Given the description of an element on the screen output the (x, y) to click on. 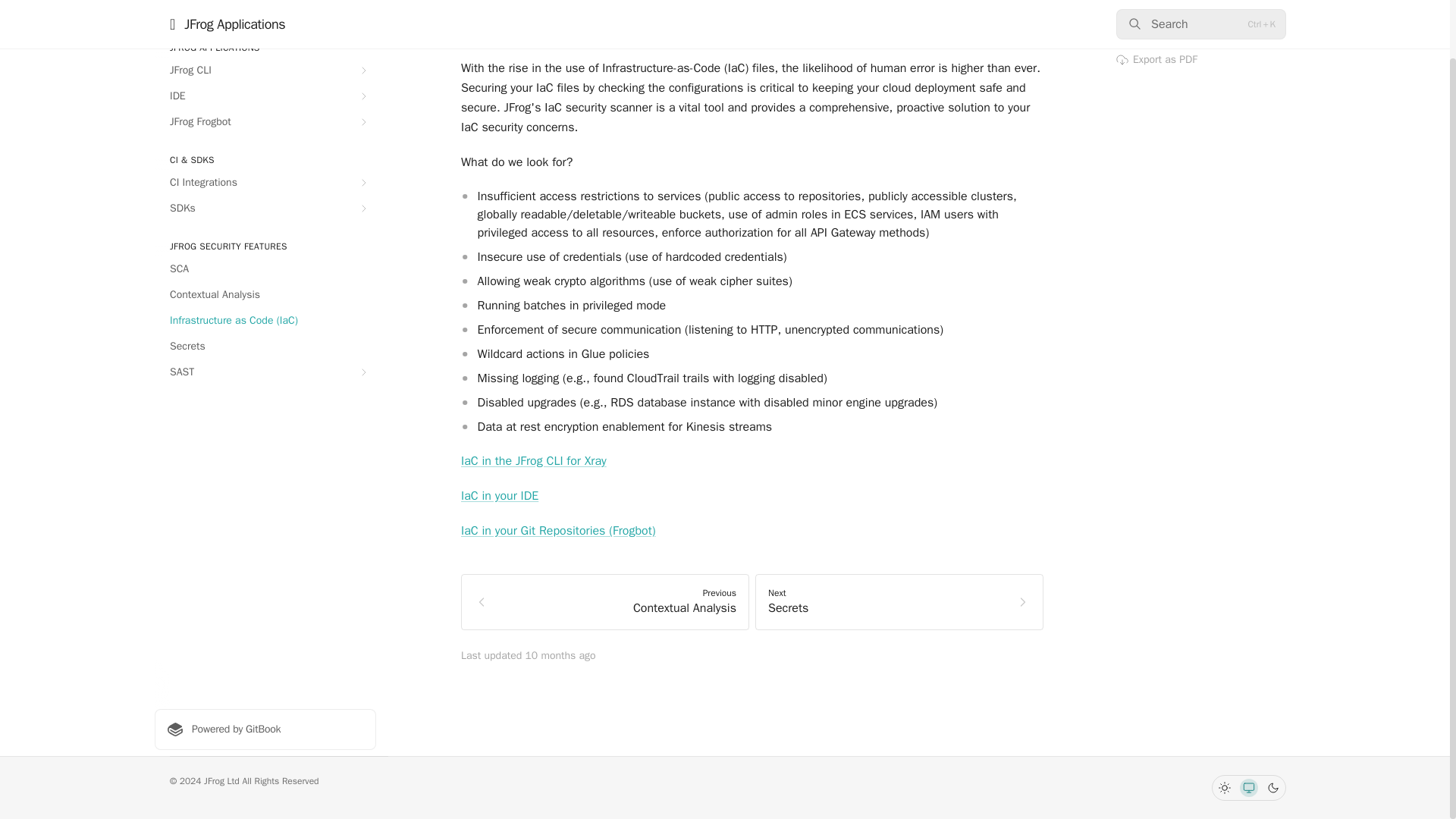
JFrog CLI (264, 70)
JFrog Applications (264, 11)
